Given the description of an element on the screen output the (x, y) to click on. 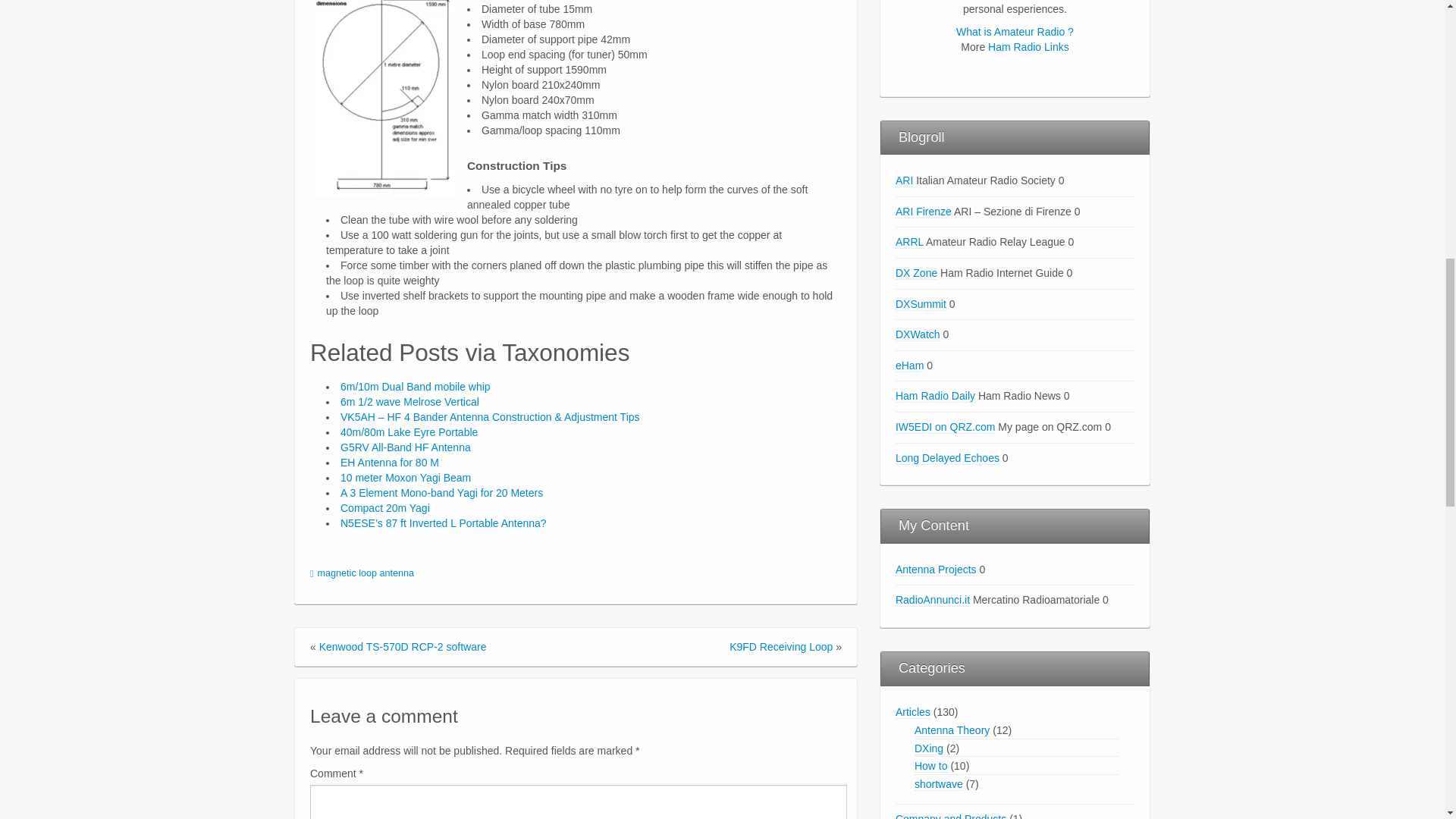
A 3 Element Mono-band Yagi for 20 Meters (441, 492)
G5RV All-Band HF Antenna (405, 447)
10 meter Moxon Yagi Beam (405, 477)
EH Antenna for 80 M (389, 462)
Compact 20m Yagi (384, 508)
